Given the description of an element on the screen output the (x, y) to click on. 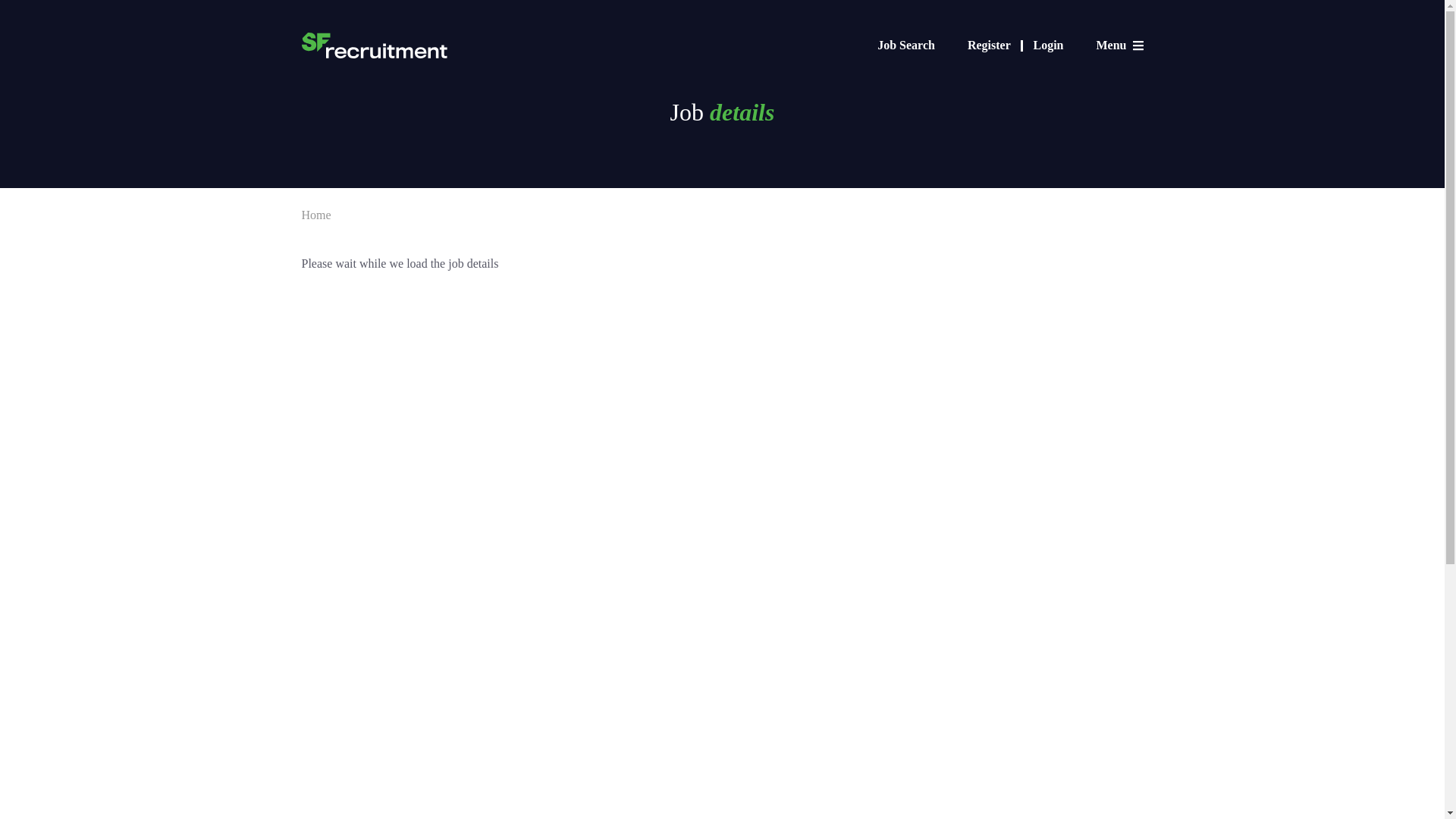
Job Search (905, 44)
Login (1047, 44)
Register (995, 44)
Home (316, 214)
